Given the description of an element on the screen output the (x, y) to click on. 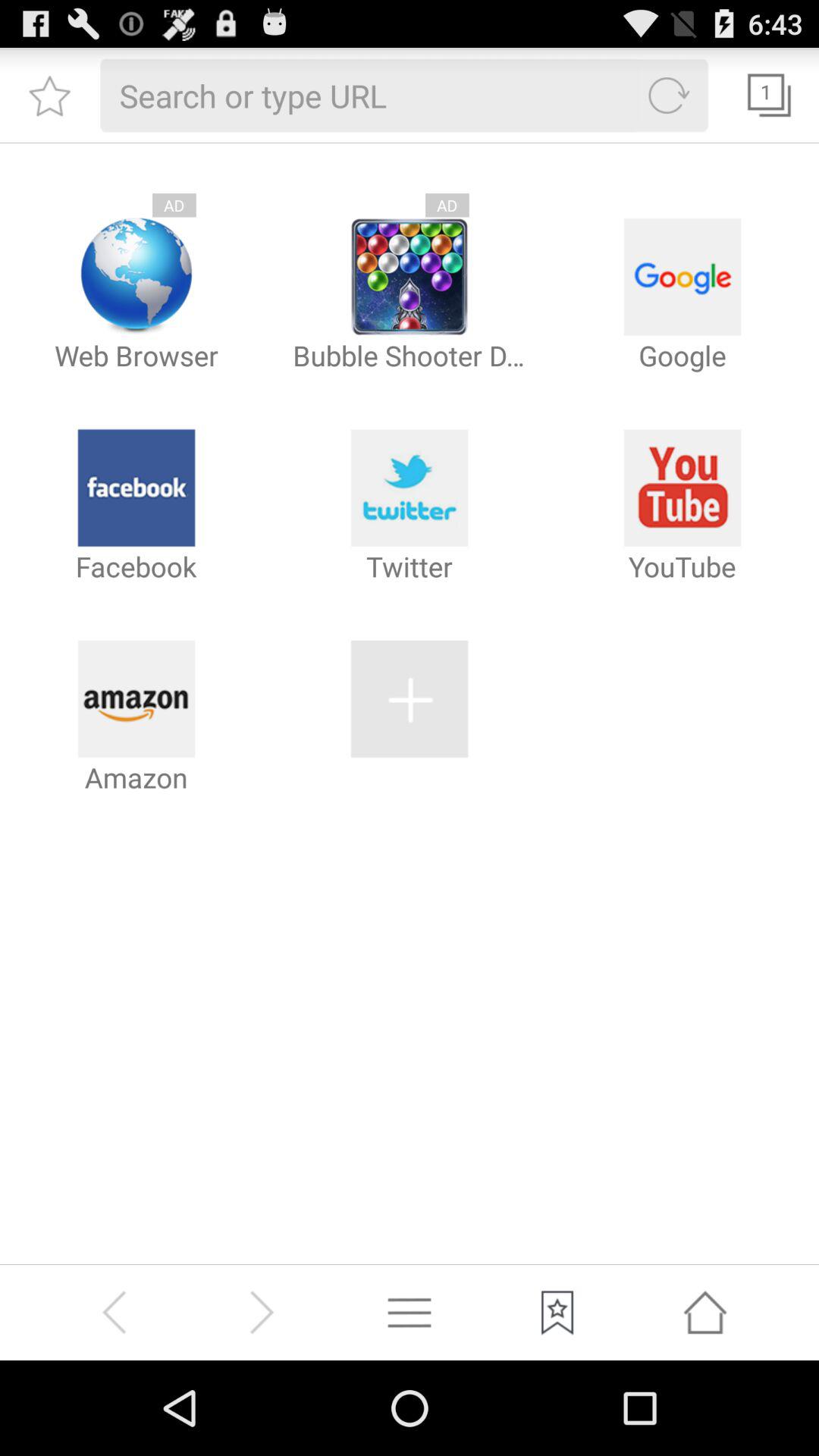
tap the icon above 1 (779, 55)
